Given the description of an element on the screen output the (x, y) to click on. 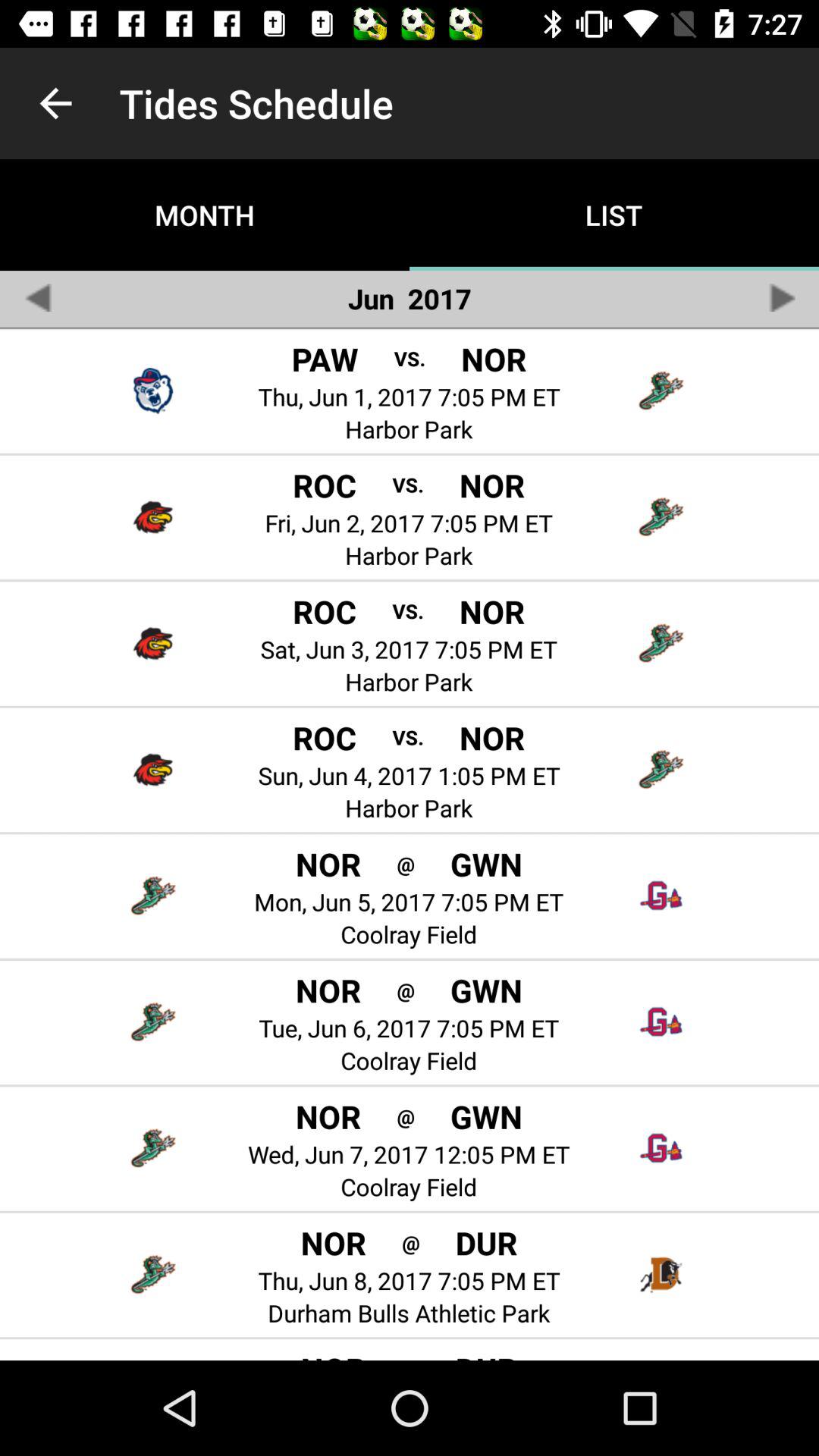
launch the app next to dur icon (410, 1357)
